Given the description of an element on the screen output the (x, y) to click on. 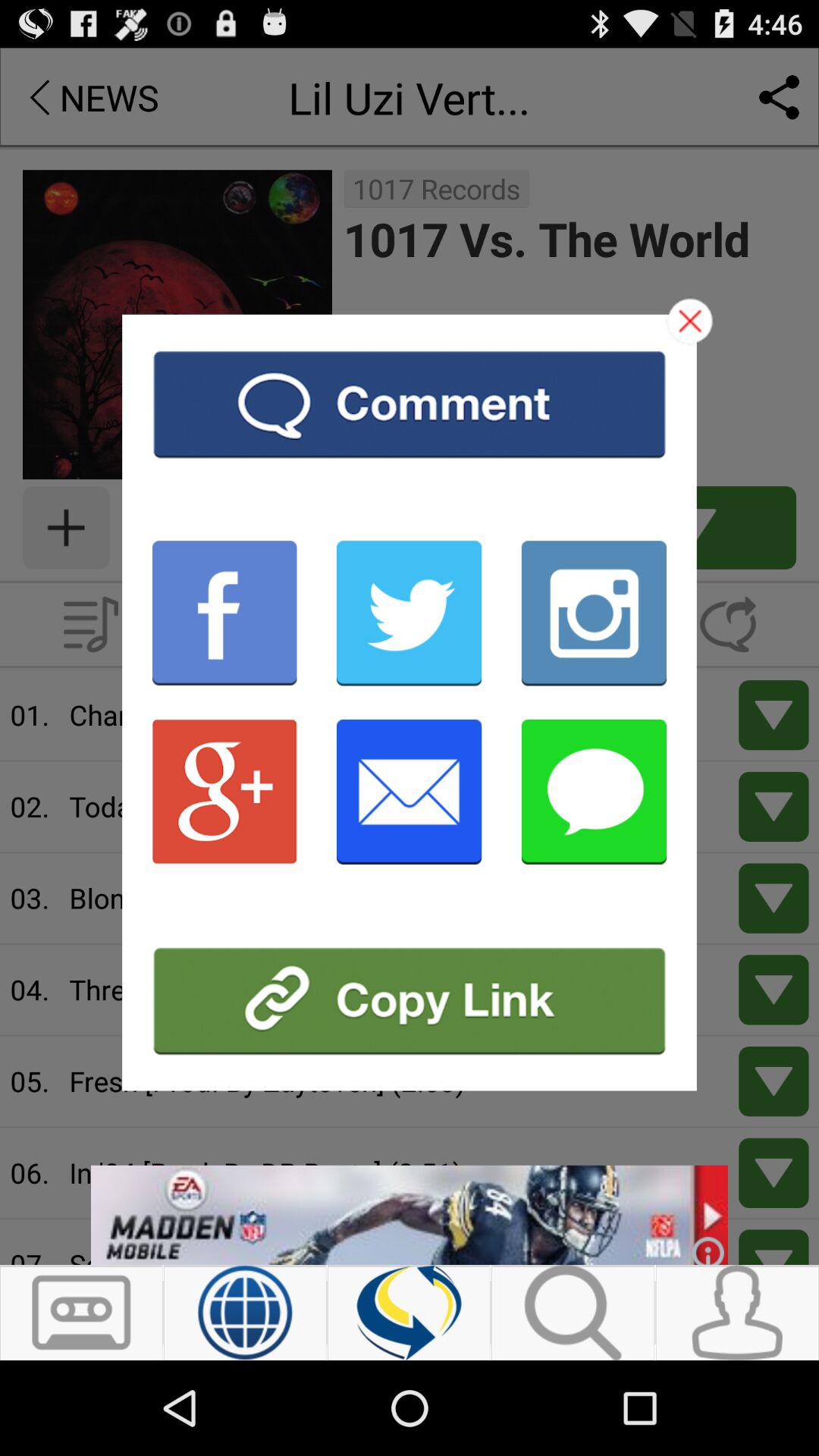
close dialogue (689, 320)
